Given the description of an element on the screen output the (x, y) to click on. 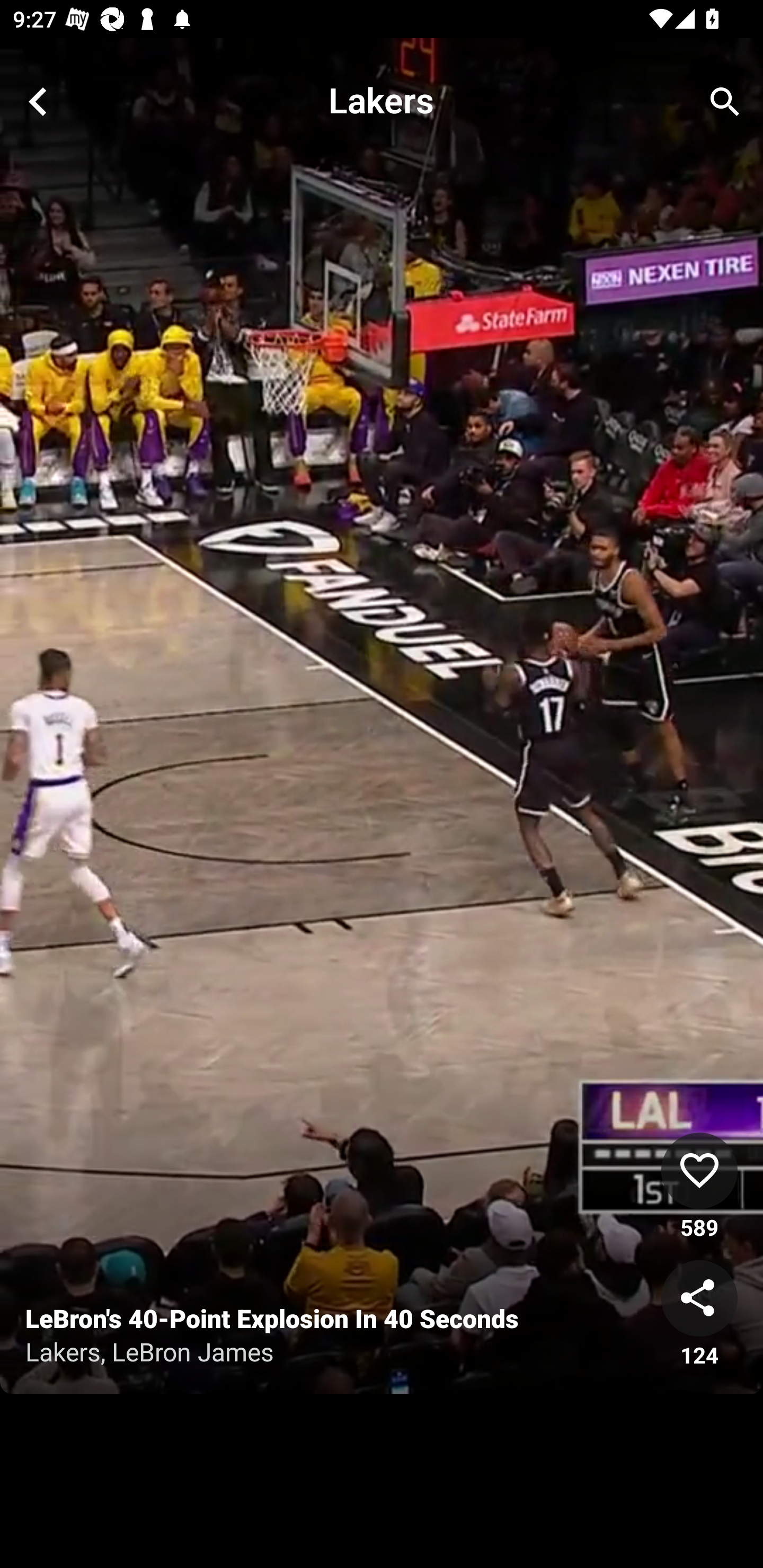
close (38, 101)
search (724, 101)
like 589 589 Likes (699, 1186)
share 124 124 Shares (699, 1314)
Lakers, LeBron James Lakers LeBron James (330, 1351)
